Given the description of an element on the screen output the (x, y) to click on. 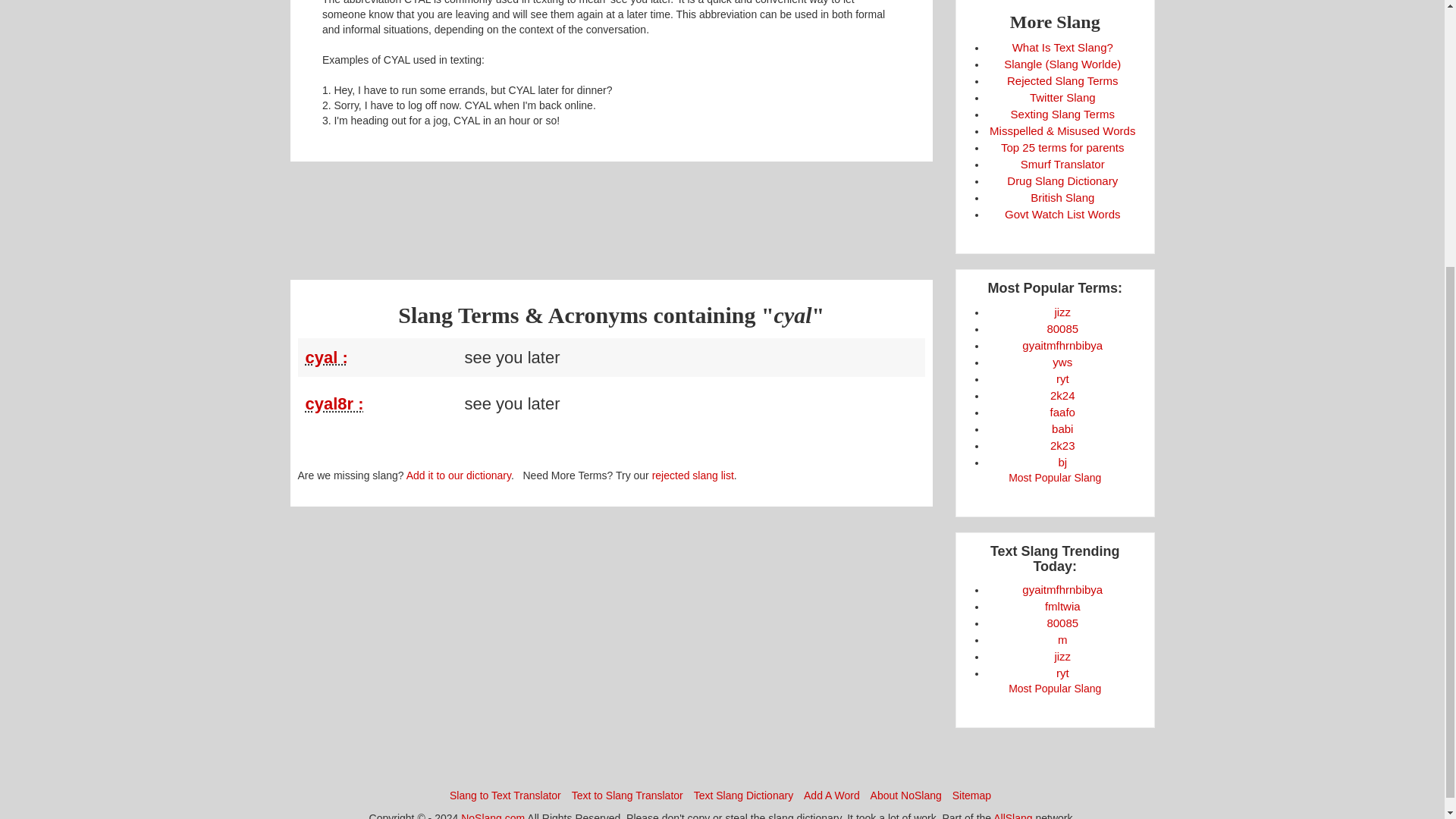
Most Popular Slang (1054, 477)
British Slang (1062, 196)
2023 (1062, 445)
Smurf Translator (1062, 164)
Twitter Slang (1062, 97)
yws (1061, 361)
Drug Slang Dictionary (1062, 180)
semen (1062, 311)
